Given the description of an element on the screen output the (x, y) to click on. 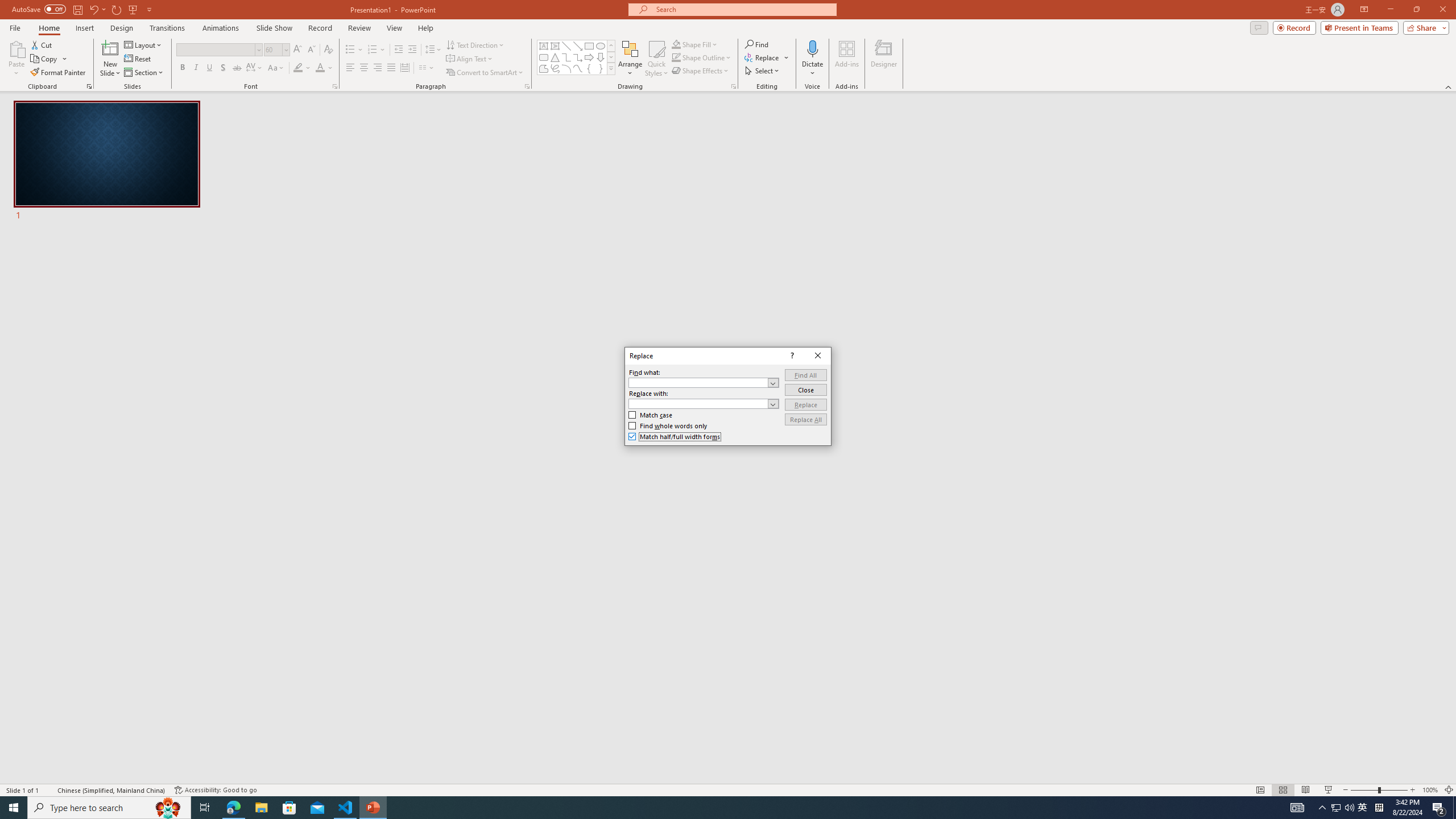
Replace with (697, 403)
Find what (703, 382)
Find whole words only (667, 425)
Match half/full width forms (674, 436)
